Given the description of an element on the screen output the (x, y) to click on. 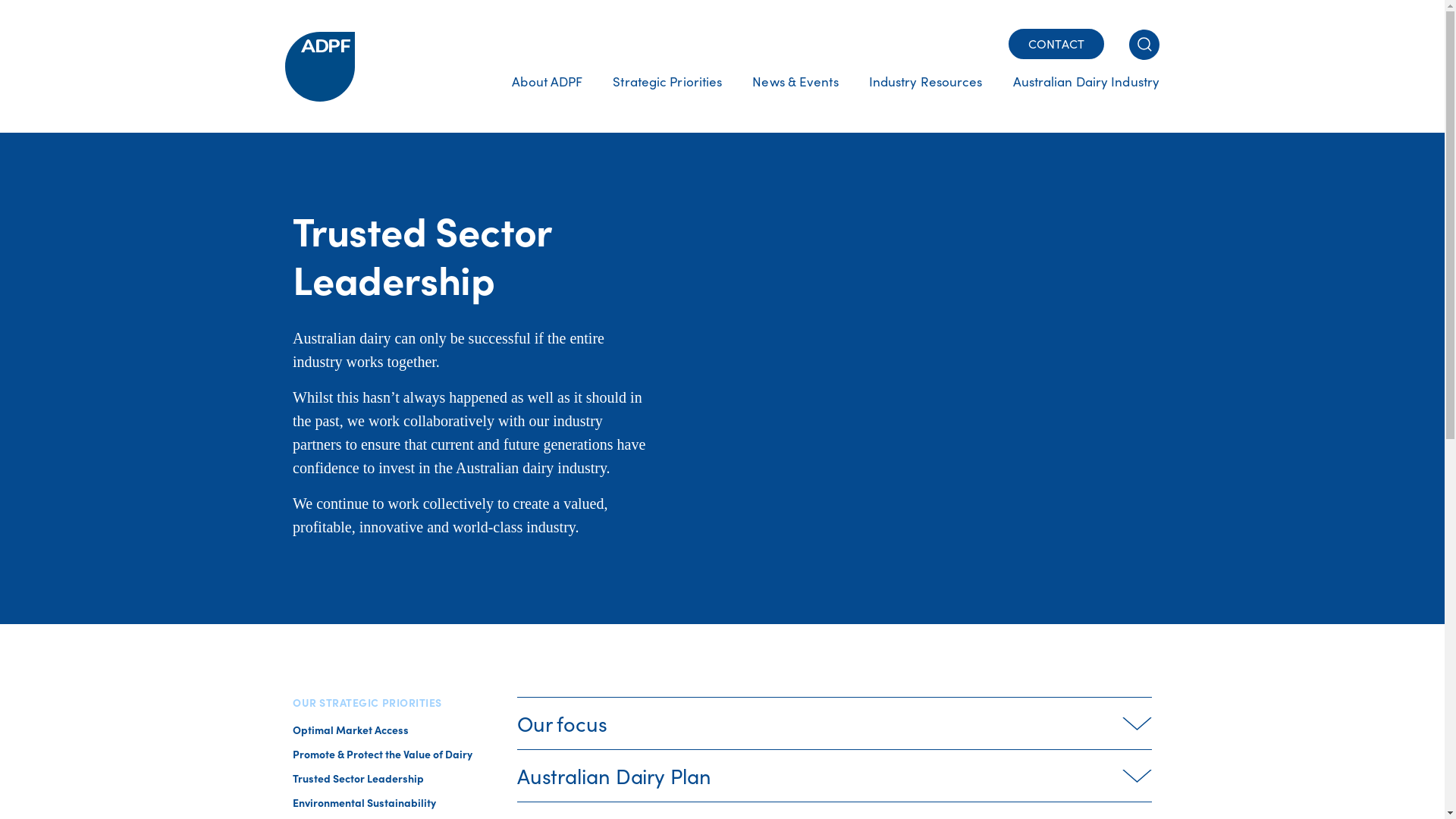
Optimal Market Access Element type: text (350, 729)
About ADPF Element type: text (546, 96)
open search modal Element type: hover (1144, 43)
Trusted Sector Leadership Element type: text (357, 777)
News & Events Element type: text (795, 96)
Environmental Sustainability Element type: text (364, 801)
CONTACT Element type: text (1056, 43)
Promote & Protect the Value of Dairy Element type: text (382, 753)
Industry Resources Element type: text (925, 96)
Australian Dairy Industry Element type: text (1078, 96)
Strategic Priorities Element type: text (667, 96)
